Given the description of an element on the screen output the (x, y) to click on. 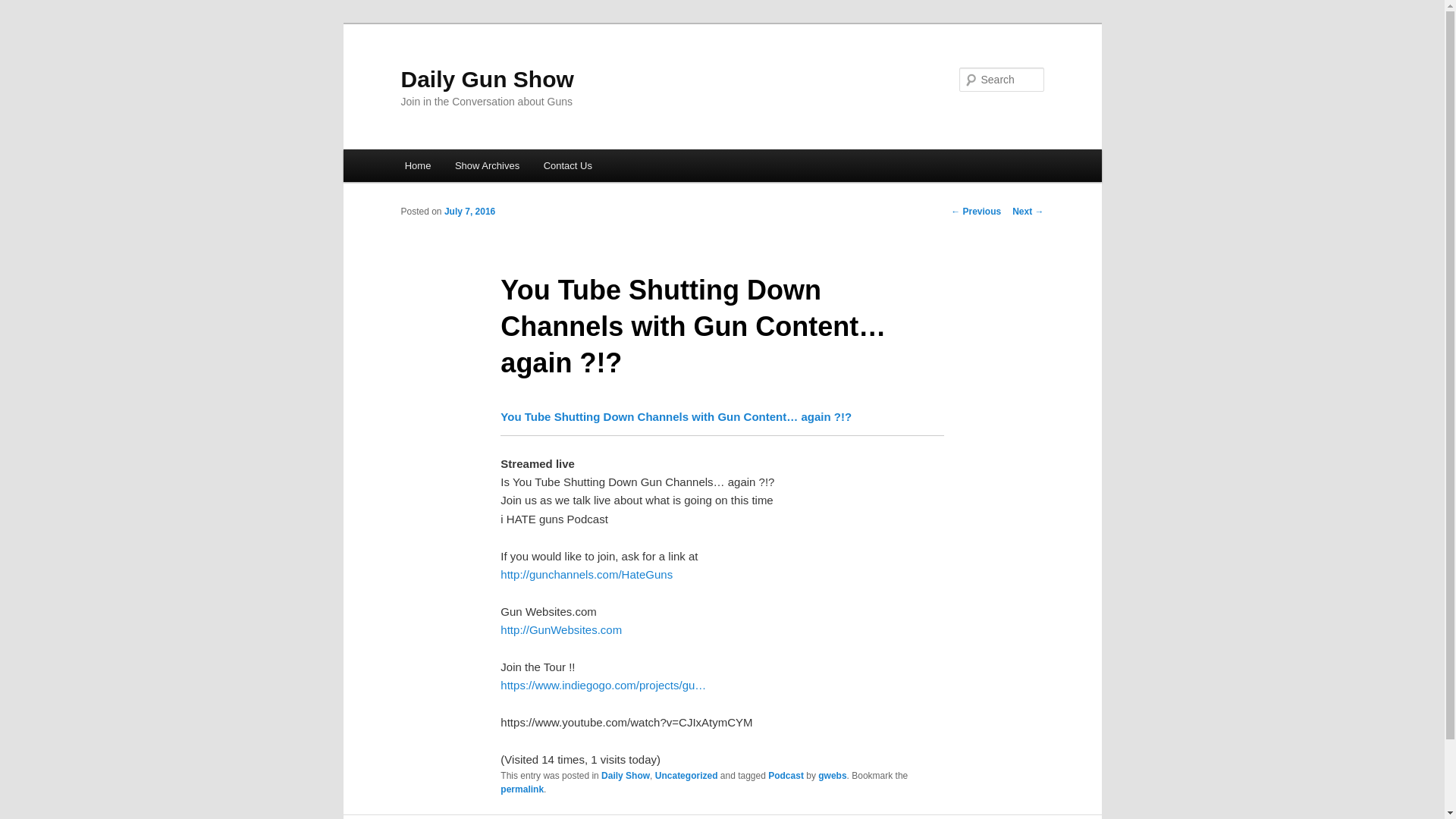
Show Archives (486, 165)
gwebs (831, 775)
permalink (521, 788)
Podcast (785, 775)
Home (417, 165)
4:46 am (469, 211)
July 7, 2016 (469, 211)
Search (24, 8)
Uncategorized (686, 775)
